Given the description of an element on the screen output the (x, y) to click on. 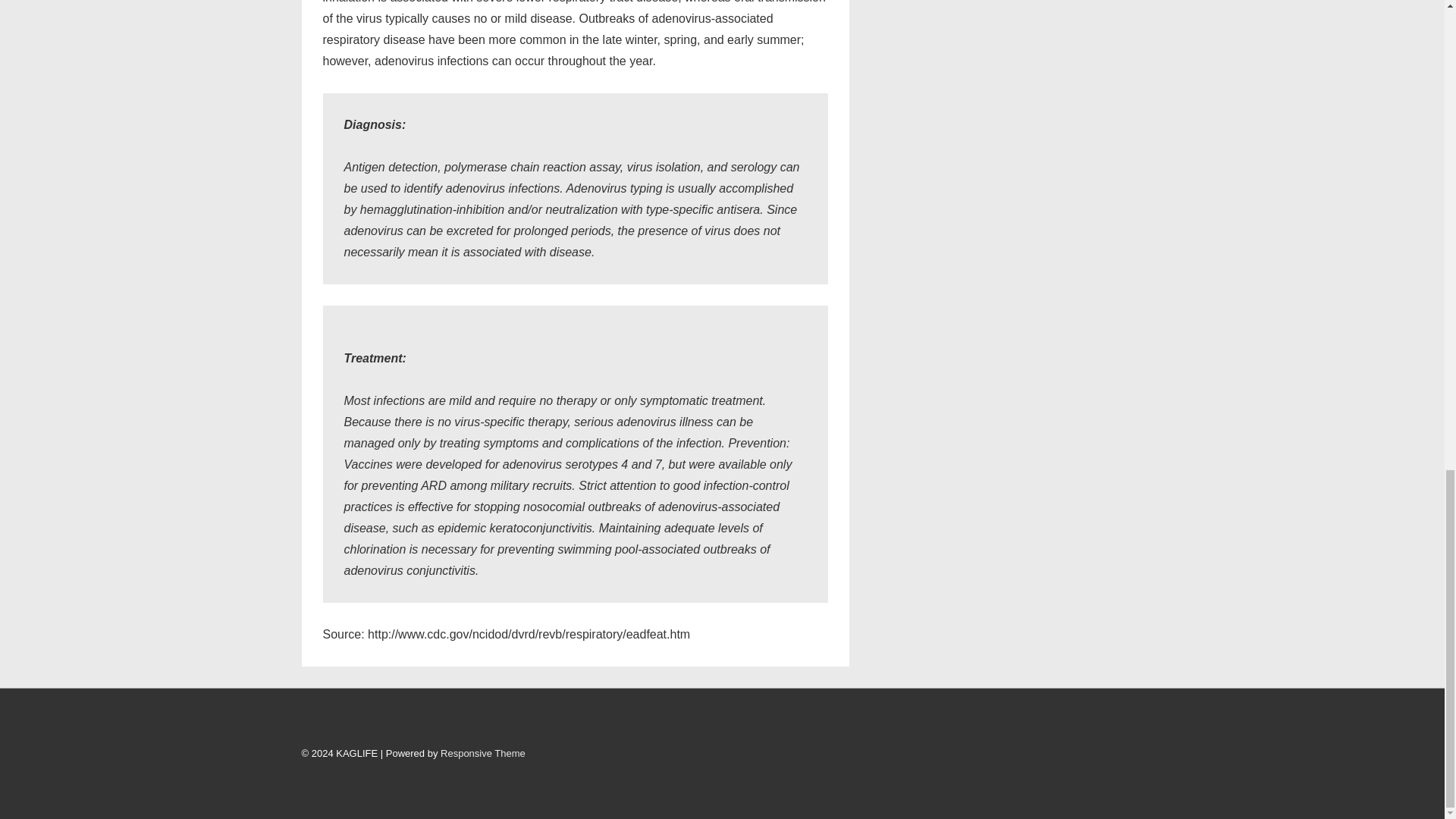
Responsive Theme (483, 752)
